Given the description of an element on the screen output the (x, y) to click on. 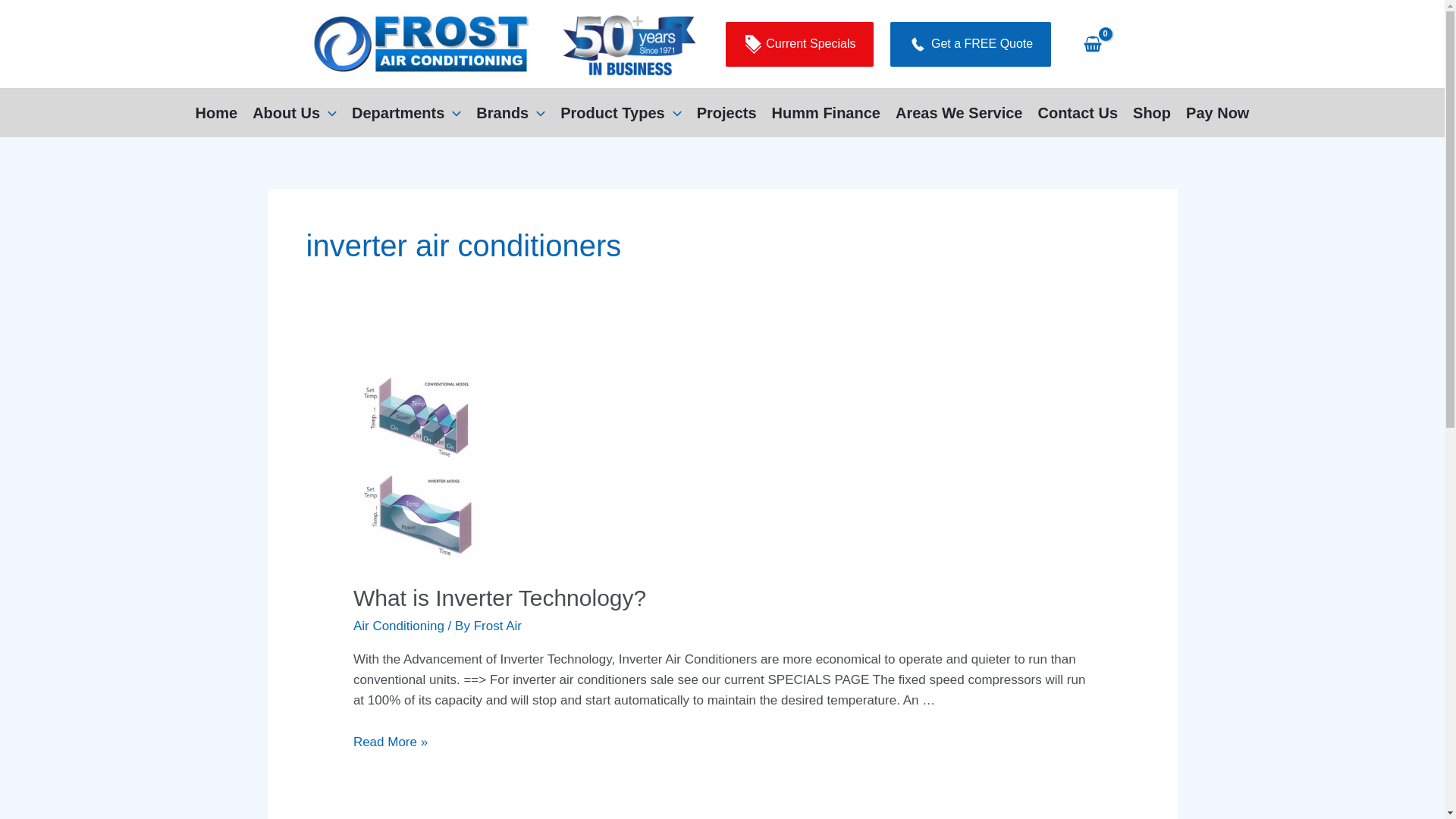
Home Element type: text (216, 112)
Frost Air Element type: text (497, 625)
About Us Element type: text (294, 112)
Product Types Element type: text (620, 112)
Projects Element type: text (726, 112)
Contact Us Element type: text (1077, 112)
Brands Element type: text (510, 112)
What is Inverter Technology? Element type: text (499, 597)
Current Specials Element type: text (799, 44)
Areas We Service Element type: text (959, 112)
Departments Element type: text (406, 112)
Get a FREE Quote Element type: text (970, 44)
Shop Element type: text (1151, 112)
Pay Now Element type: text (1217, 112)
Air Conditioning Element type: text (398, 625)
Humm Finance Element type: text (826, 112)
